Given the description of an element on the screen output the (x, y) to click on. 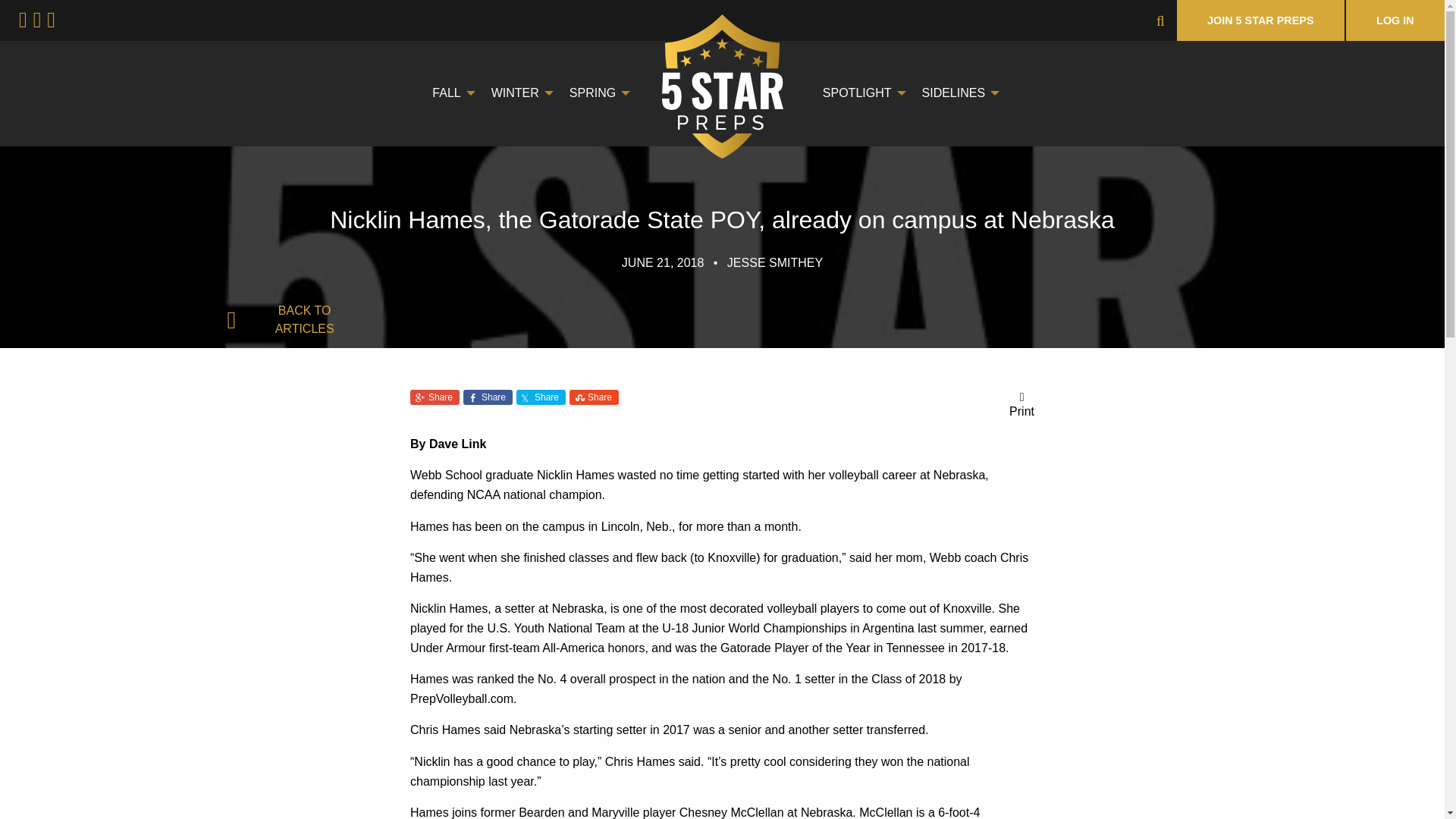
Search (50, 16)
FALL (449, 92)
JOIN 5 STAR PREPS (1259, 20)
